Given the description of an element on the screen output the (x, y) to click on. 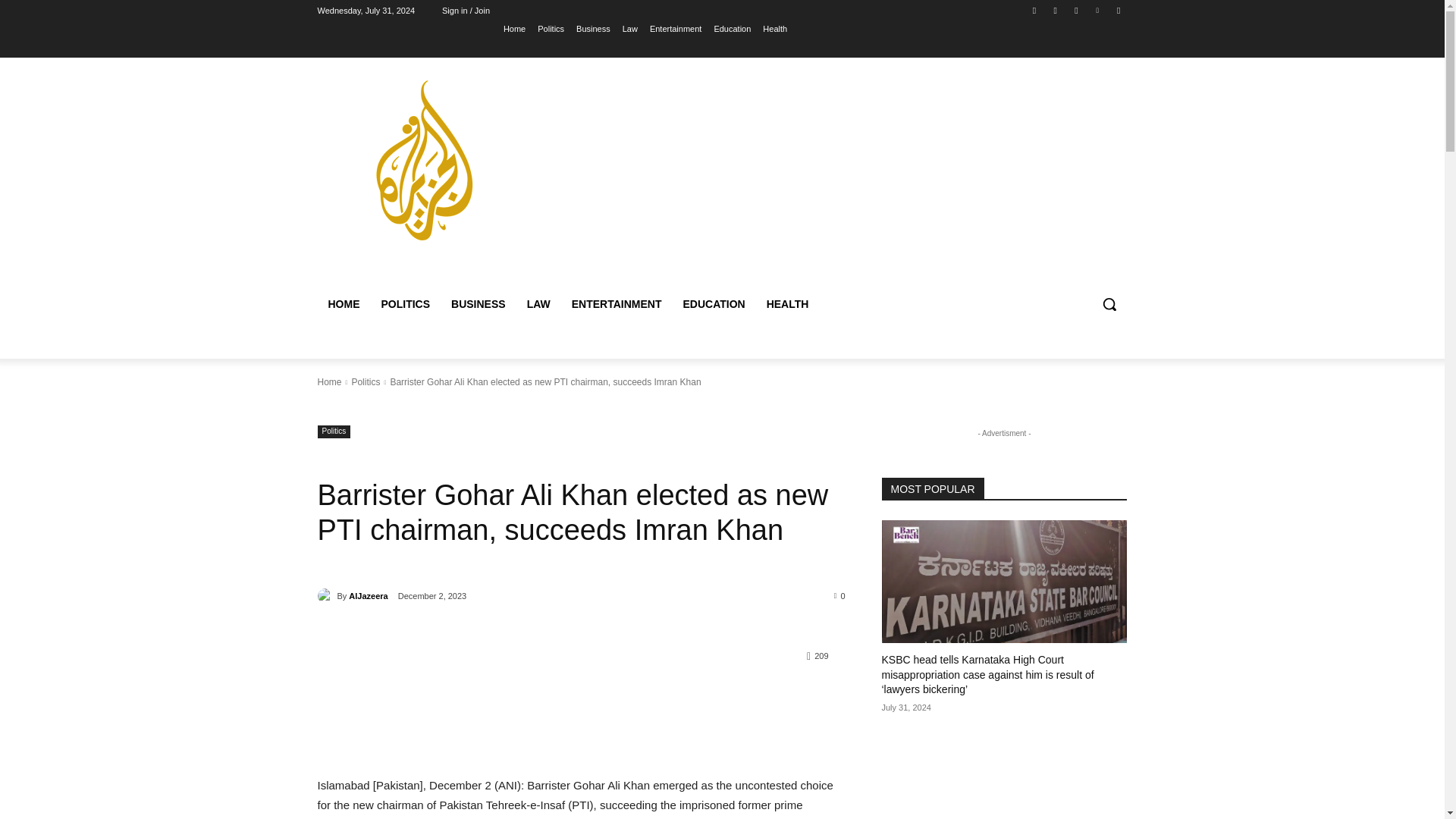
Politics (333, 431)
EDUCATION (713, 303)
Facebook (1034, 9)
Twitter (1075, 9)
ENTERTAINMENT (616, 303)
LAW (538, 303)
Youtube (1117, 9)
BUSINESS (478, 303)
Entertainment (675, 28)
Home (514, 28)
AlJazeera (326, 595)
AlJazeera (368, 595)
Business (593, 28)
Politics (365, 381)
POLITICS (405, 303)
